Given the description of an element on the screen output the (x, y) to click on. 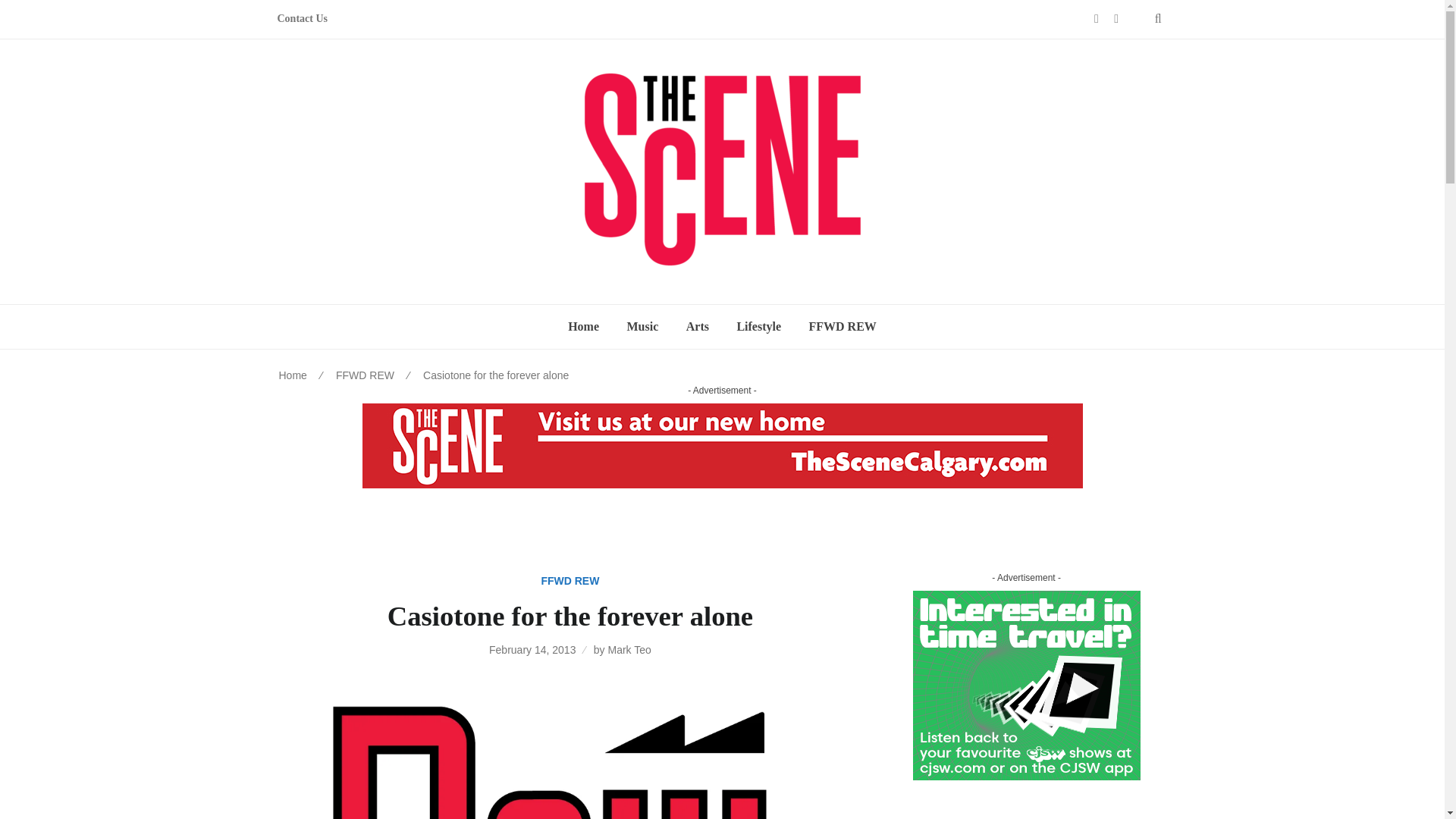
Music (641, 326)
Home (293, 375)
Arts (697, 326)
Lifestyle (758, 326)
Home (583, 326)
FFWD REW (365, 375)
Contact Us (302, 19)
February 14, 2013 (532, 649)
FFWD REW (569, 580)
Mark Teo (628, 649)
FFWD REW (842, 326)
